Given the description of an element on the screen output the (x, y) to click on. 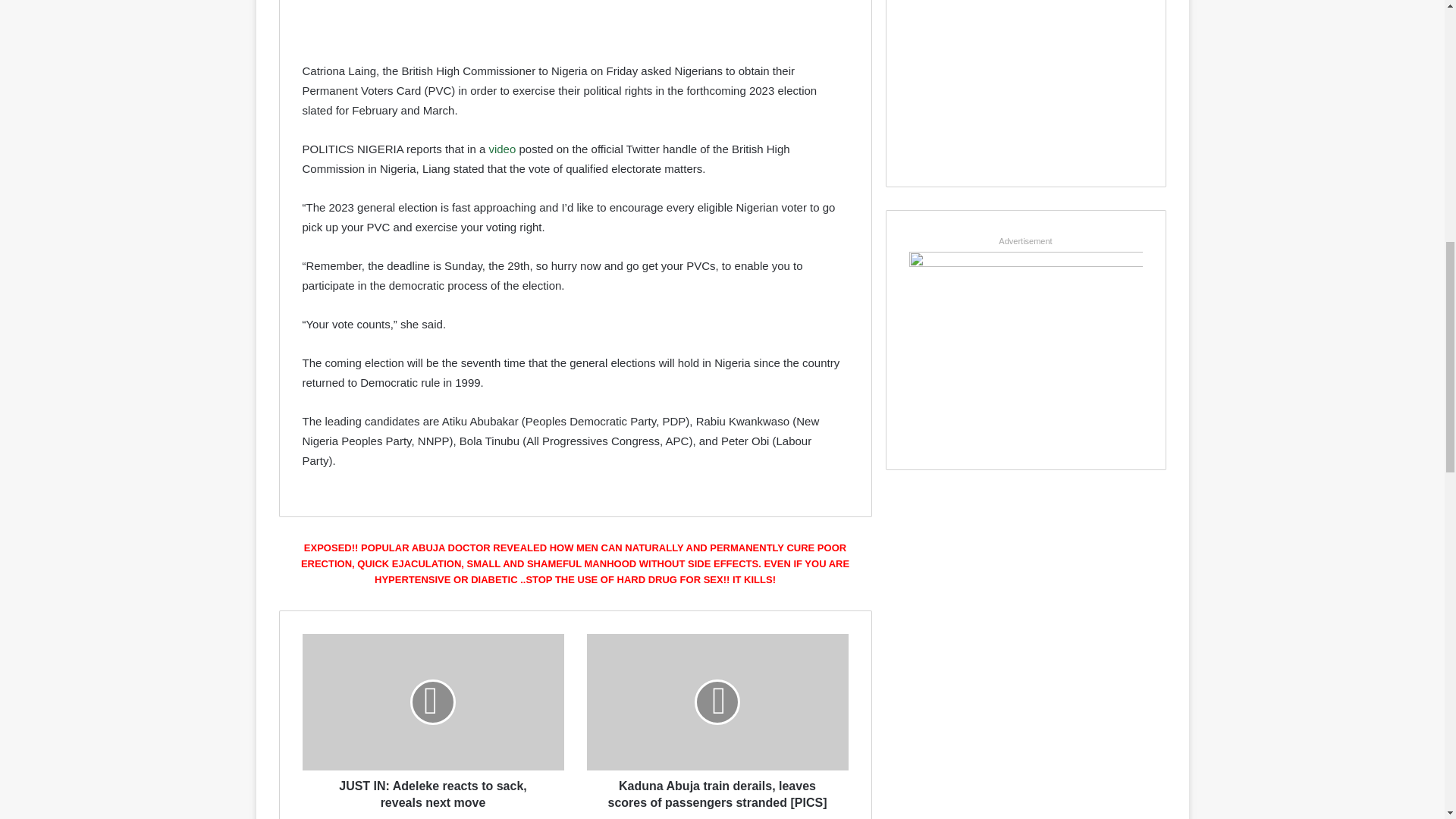
JUST IN: Adeleke reacts to sack, reveals next move (432, 790)
video (501, 148)
